Given the description of an element on the screen output the (x, y) to click on. 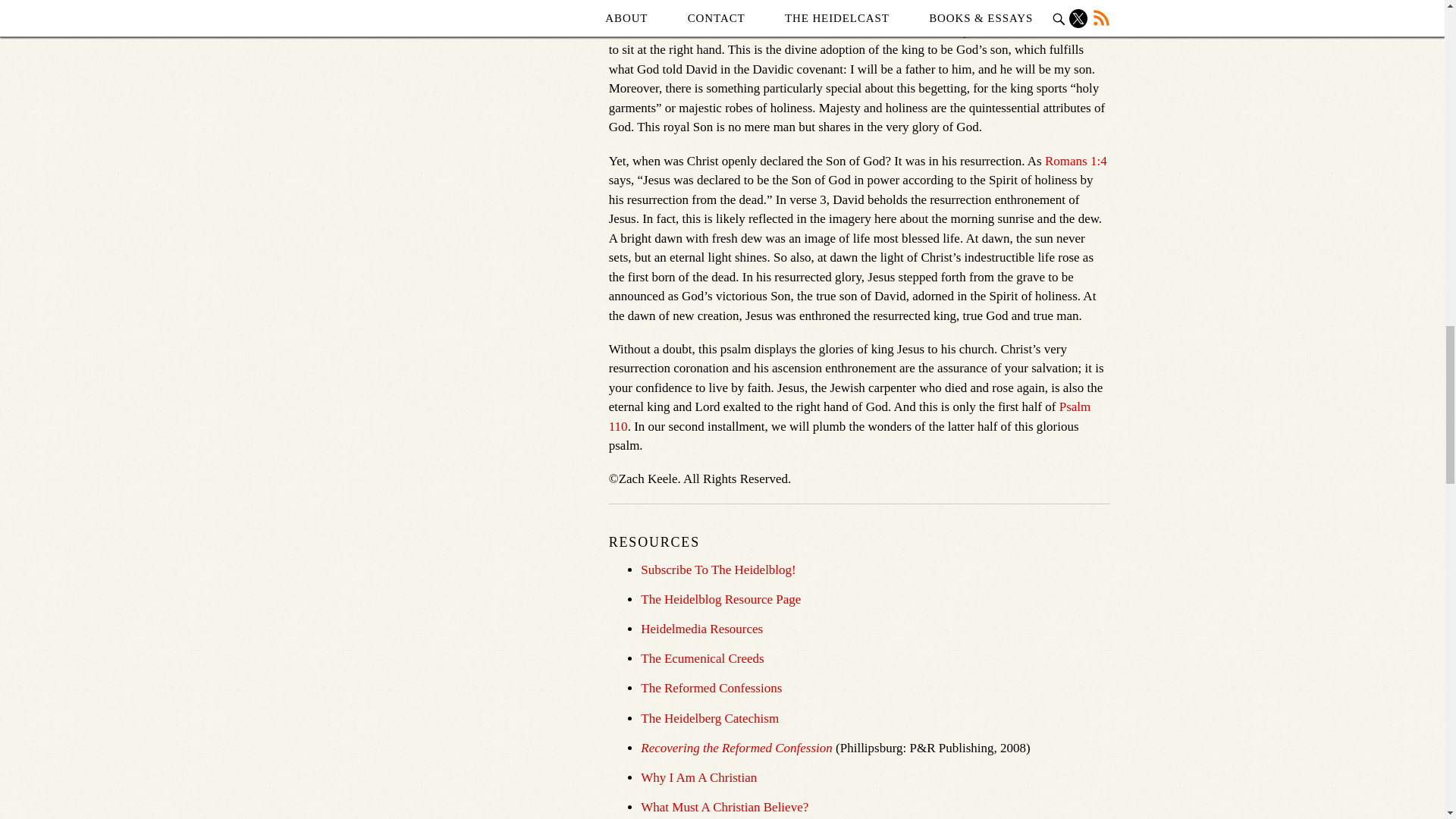
Subscribe To The Heidelblog! (718, 569)
Why I Am A Christian (698, 777)
Psalm 110 (849, 416)
The Heidelberg Catechism (709, 718)
The Heidelblog Resource Page (720, 599)
The Ecumenical Creeds (701, 658)
The Reformed Confessions (710, 687)
Romans 1:4 (1075, 160)
What Must A Christian Believe? (724, 807)
Recovering the Reformed Confession (736, 748)
Heidelmedia Resources (701, 628)
